Given the description of an element on the screen output the (x, y) to click on. 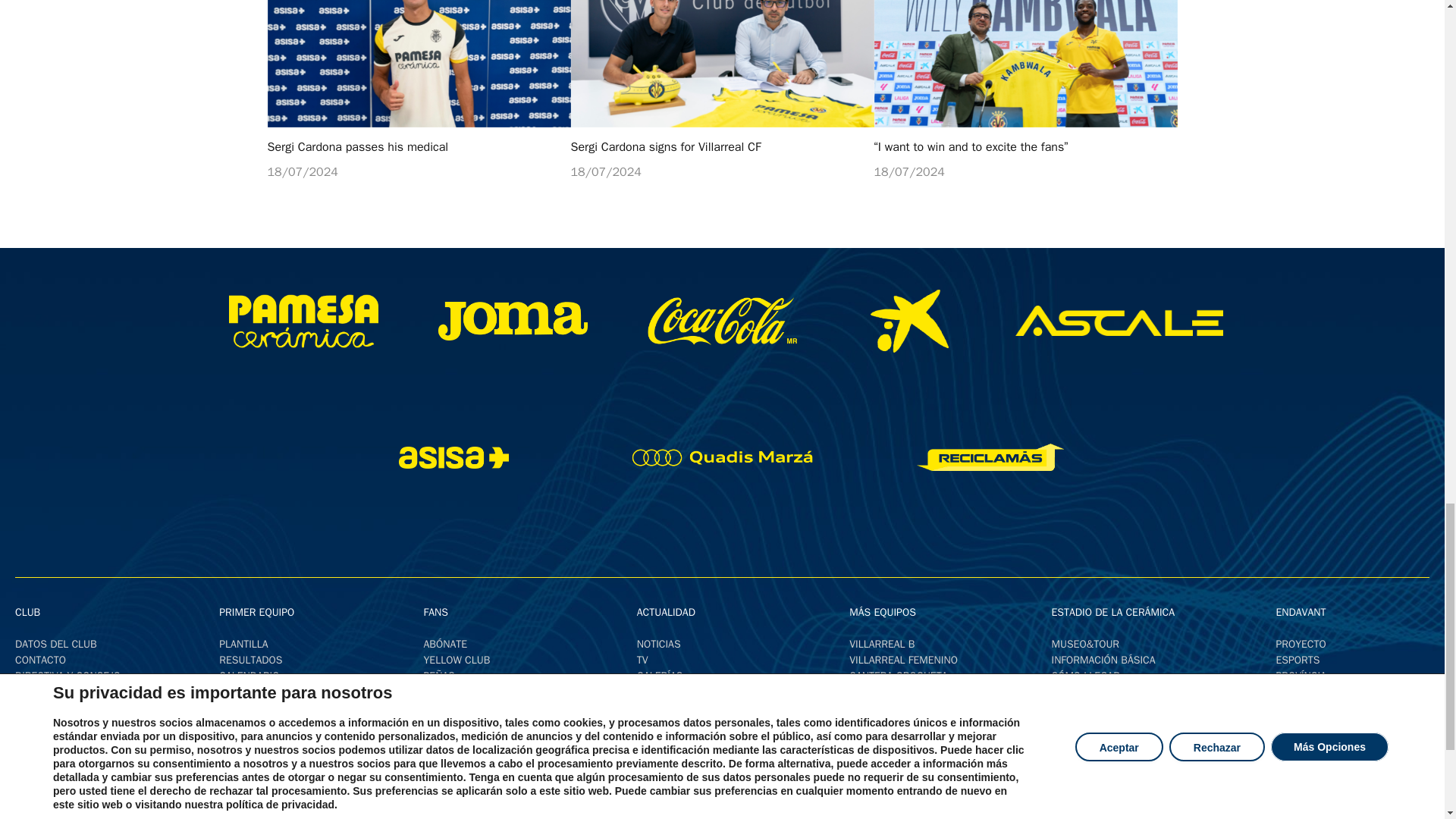
Sergi Cardona signs for Villarreal CF (721, 63)
Sergi Cardona passes his medical (418, 63)
